Given the description of an element on the screen output the (x, y) to click on. 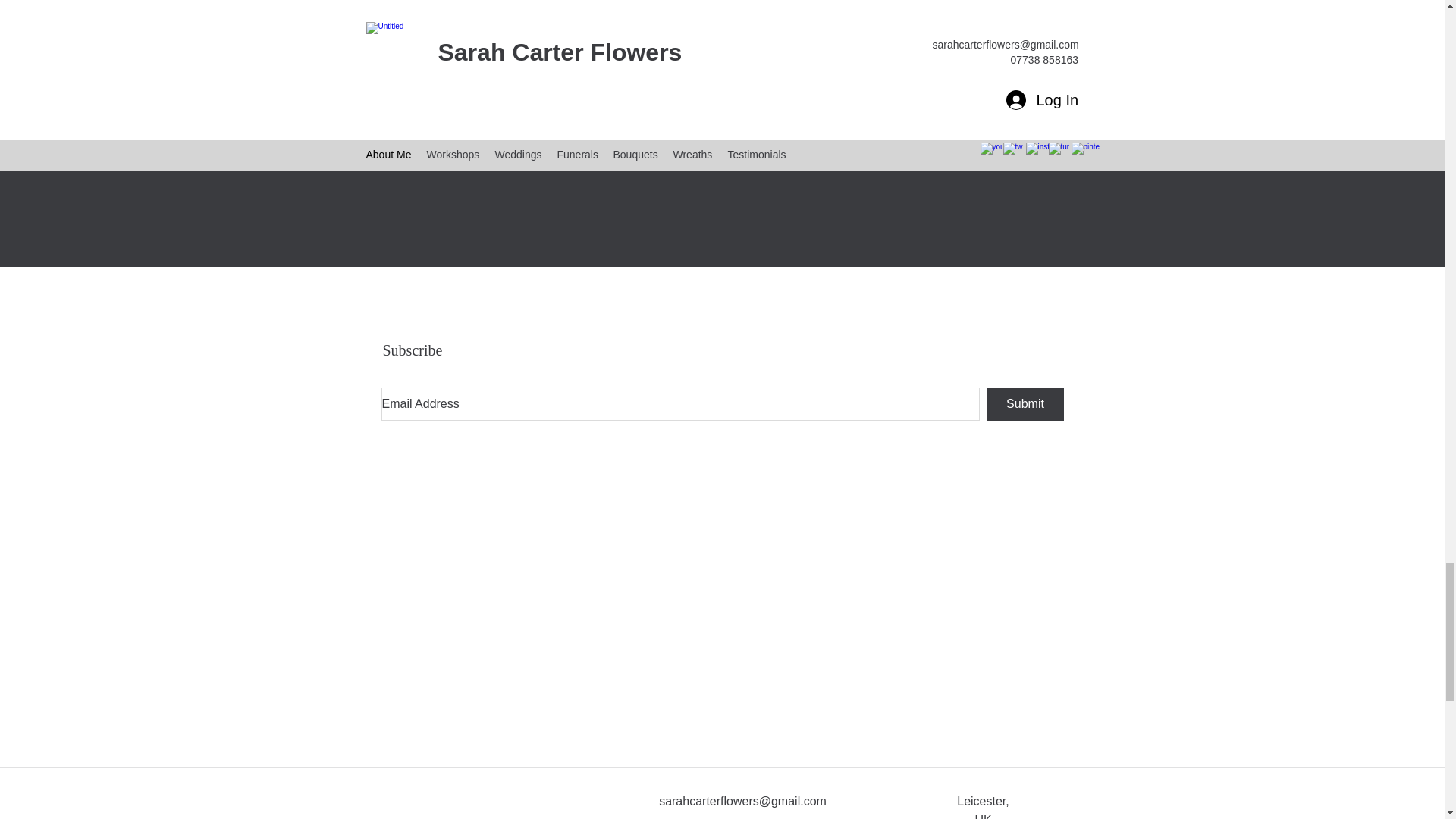
Submit (1025, 403)
Submit (903, 148)
